Given the description of an element on the screen output the (x, y) to click on. 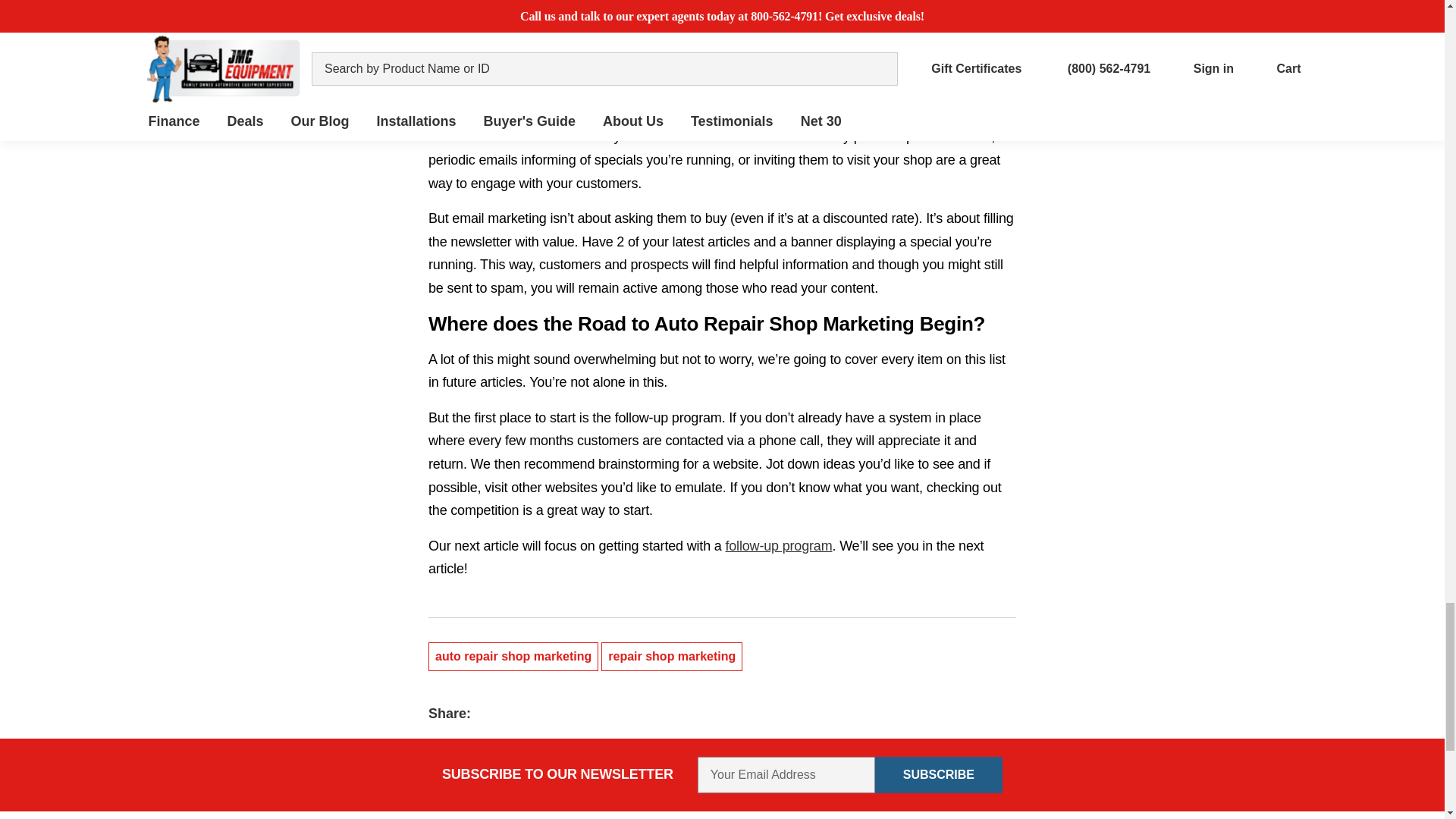
Subscribe (939, 774)
